Given the description of an element on the screen output the (x, y) to click on. 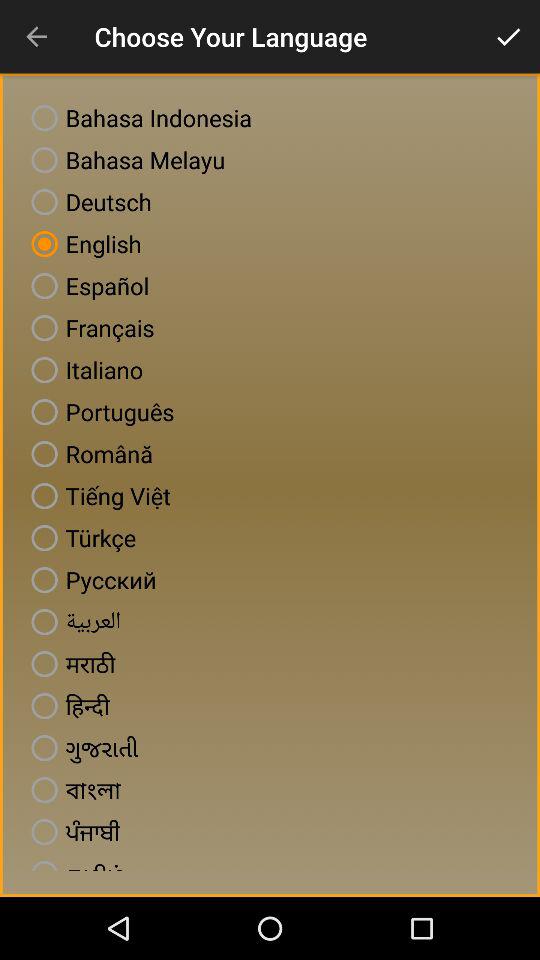
click item below the bahasa indonesia item (124, 160)
